Given the description of an element on the screen output the (x, y) to click on. 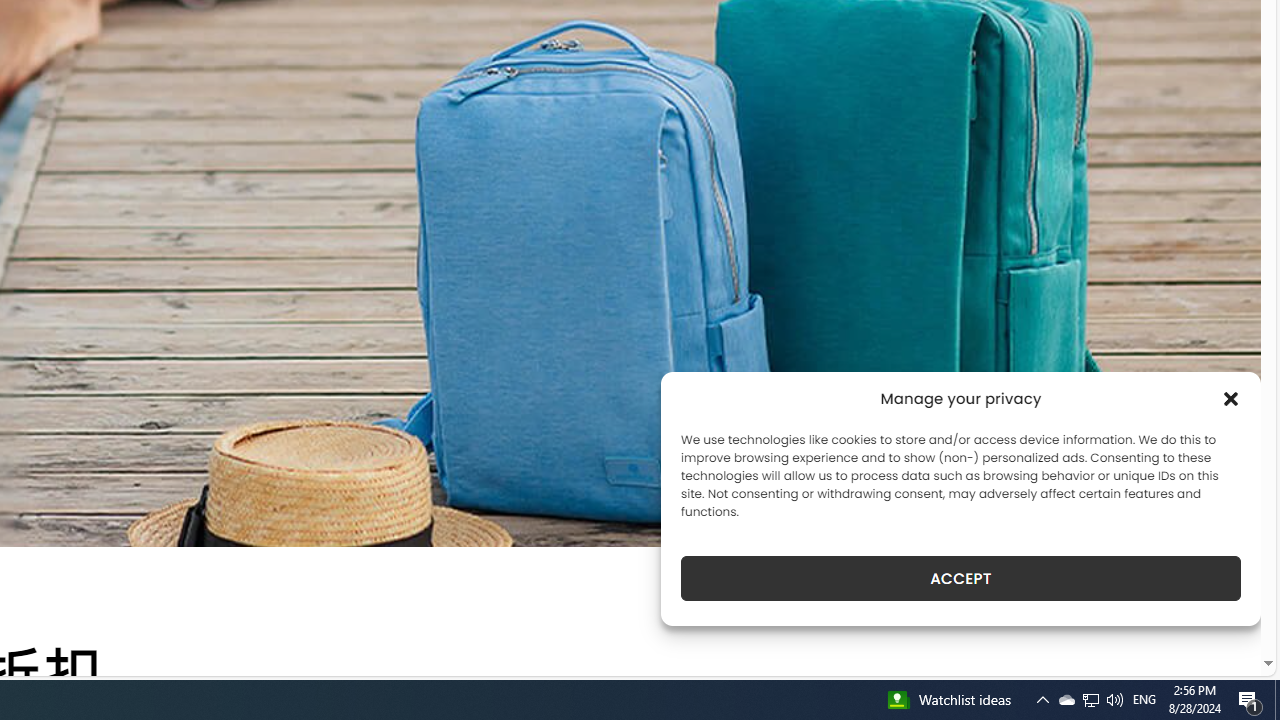
ACCEPT (960, 578)
Class: cmplz-close (1231, 398)
